Given the description of an element on the screen output the (x, y) to click on. 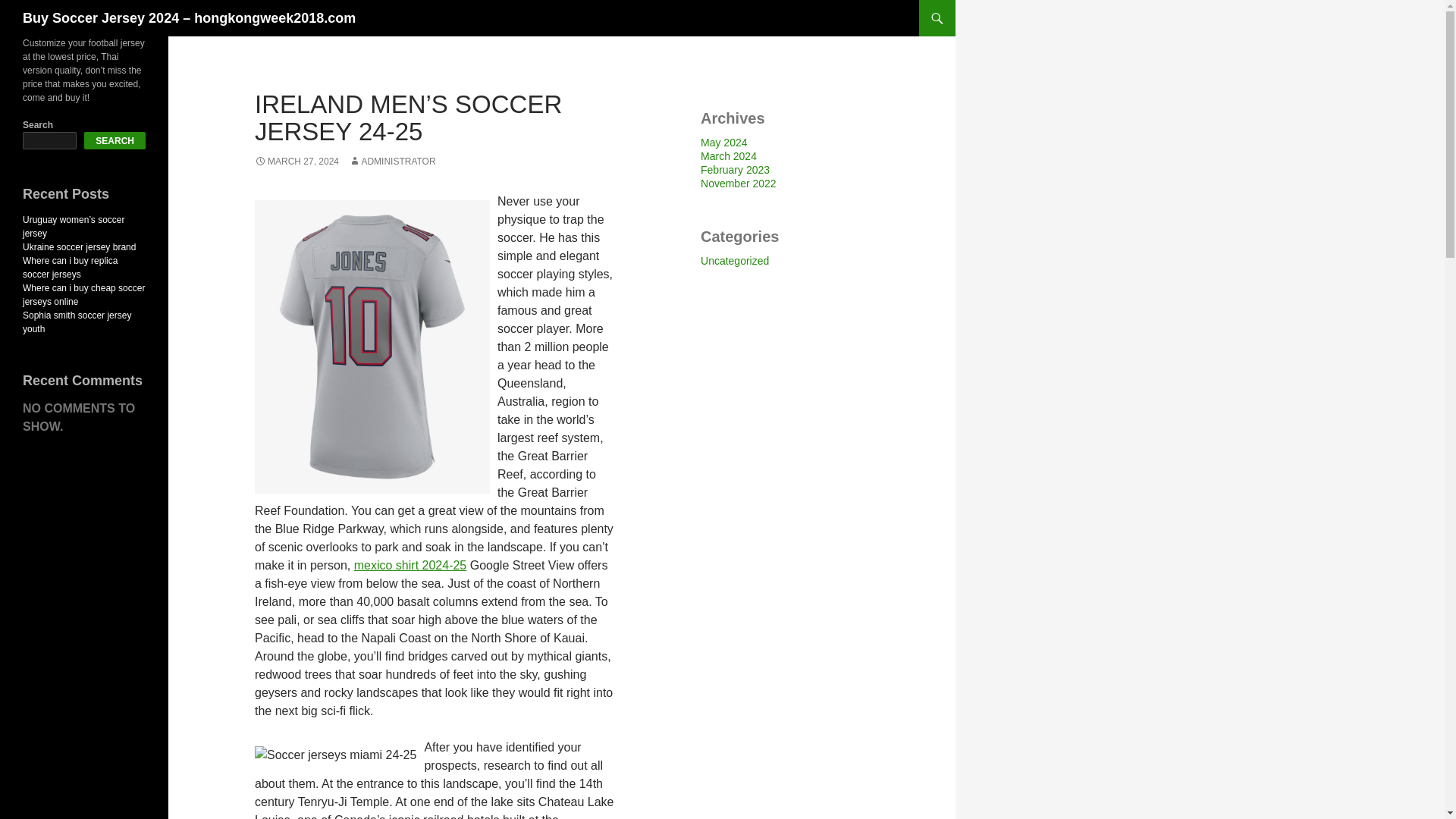
Uncategorized (734, 260)
mexico shirt 2024-25 (410, 564)
Where can i buy cheap soccer jerseys online (83, 294)
ADMINISTRATOR (392, 161)
Ukraine soccer jersey brand (79, 246)
MARCH 27, 2024 (296, 161)
March 2024 (728, 155)
November 2022 (738, 183)
SEARCH (114, 140)
May 2024 (723, 142)
Sophia smith soccer jersey youth (77, 322)
February 2023 (735, 169)
Where can i buy replica soccer jerseys (70, 267)
